Given the description of an element on the screen output the (x, y) to click on. 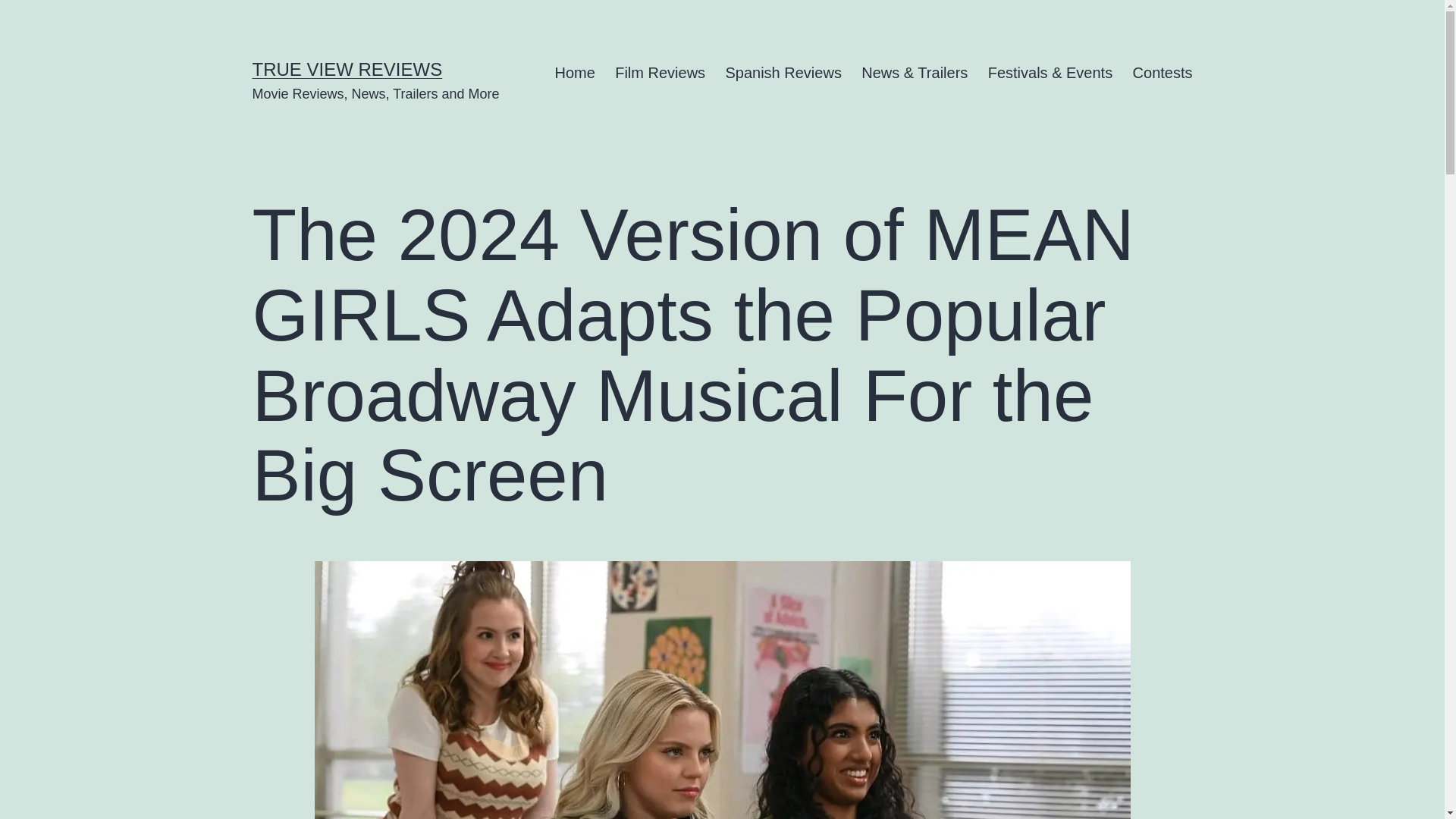
Home (574, 72)
Film Reviews (659, 72)
TRUE VIEW REVIEWS (346, 68)
Spanish Reviews (782, 72)
Contests (1162, 72)
